Given the description of an element on the screen output the (x, y) to click on. 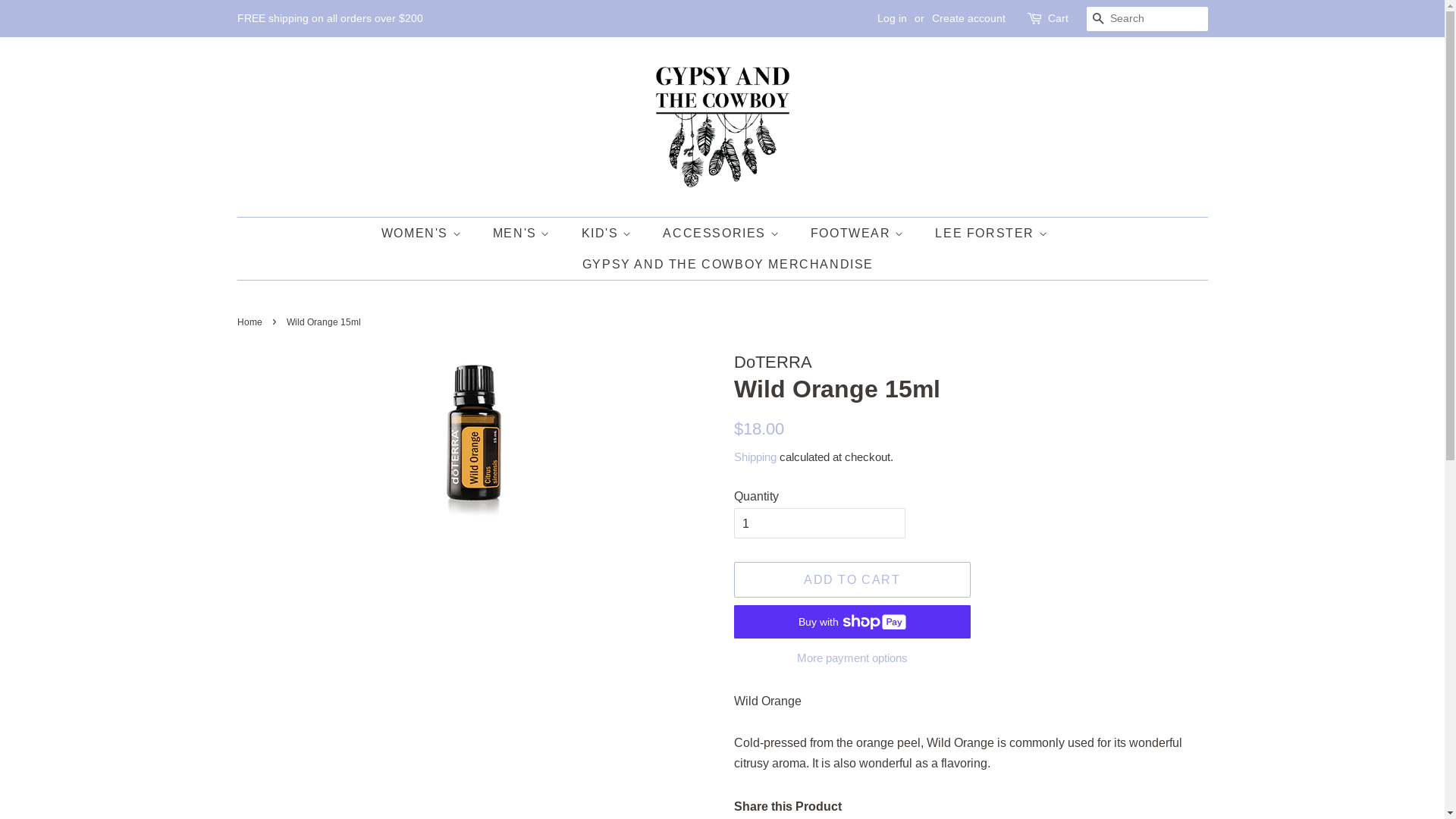
ACCESSORIES Element type: text (722, 232)
KID'S Element type: text (608, 232)
Log in Element type: text (891, 18)
SEARCH Element type: text (1097, 18)
Home Element type: text (250, 321)
LEE FORSTER Element type: text (993, 232)
ADD TO CART Element type: text (852, 579)
Cart Element type: text (1058, 18)
MEN'S Element type: text (523, 232)
More payment options Element type: text (852, 657)
Shipping Element type: text (755, 456)
GYPSY AND THE COWBOY MERCHANDISE Element type: text (722, 263)
Create account Element type: text (967, 18)
WOMEN'S Element type: text (428, 232)
FOOTWEAR Element type: text (859, 232)
